Given the description of an element on the screen output the (x, y) to click on. 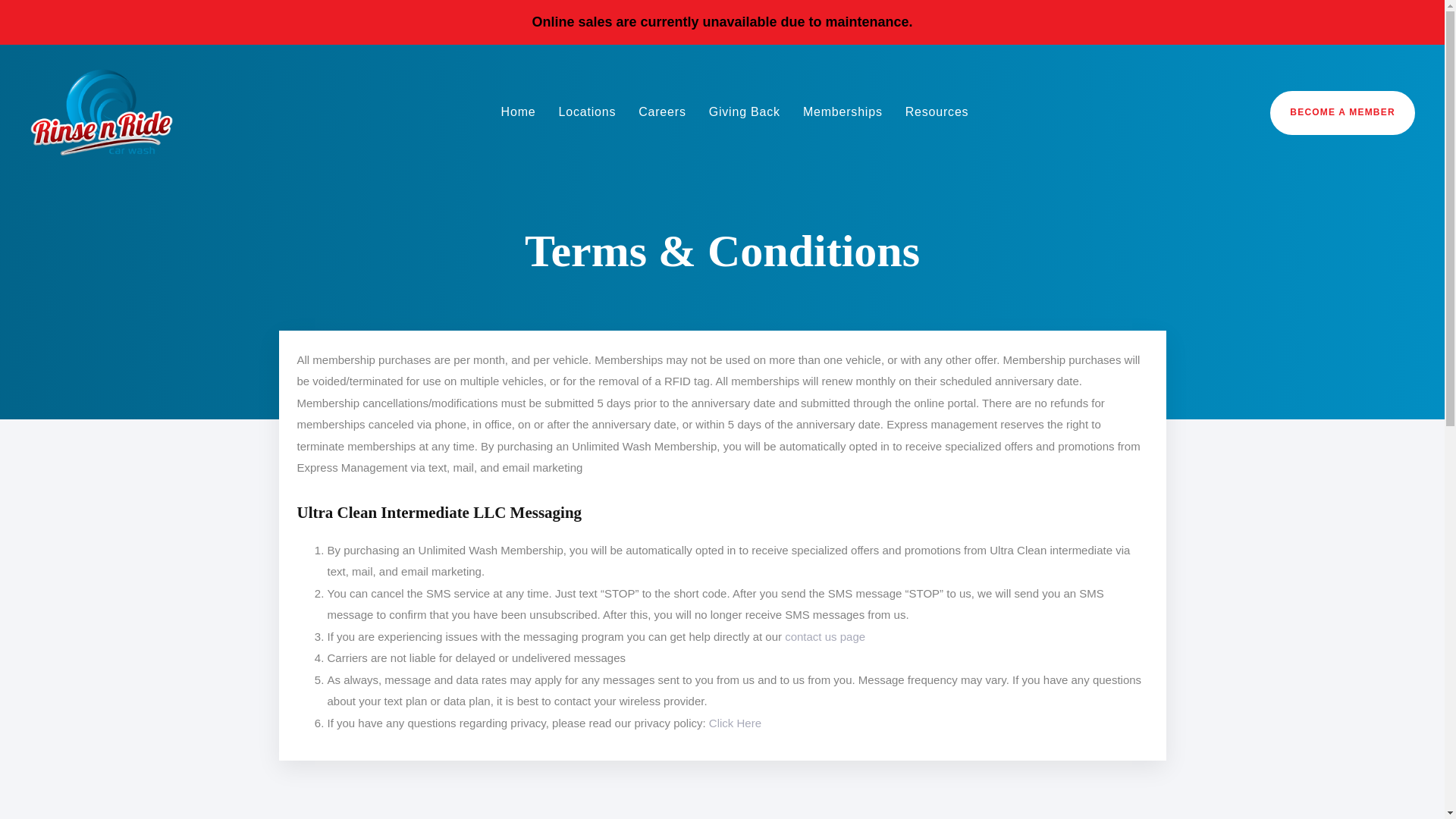
BECOME A MEMBER (1342, 112)
Click Here (735, 722)
contact us page (824, 635)
